Given the description of an element on the screen output the (x, y) to click on. 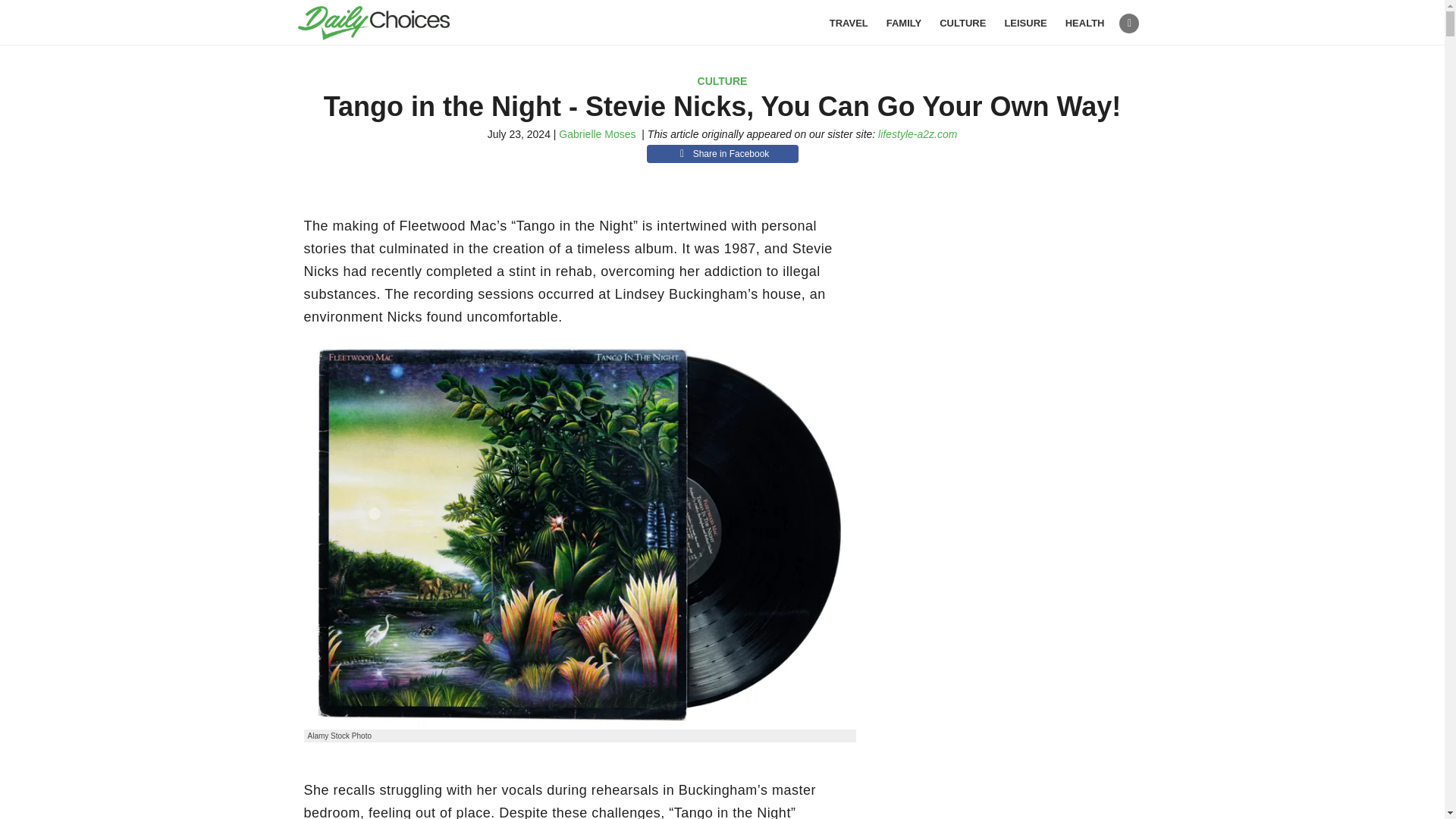
CULTURE (722, 80)
CULTURE (962, 23)
Share in Facebook (721, 153)
Gabrielle Moses (596, 133)
Facebook (1128, 23)
lifestyle-a2z.com (916, 133)
TRAVEL (848, 23)
LEISURE (1025, 23)
HEALTH (1085, 23)
